Given the description of an element on the screen output the (x, y) to click on. 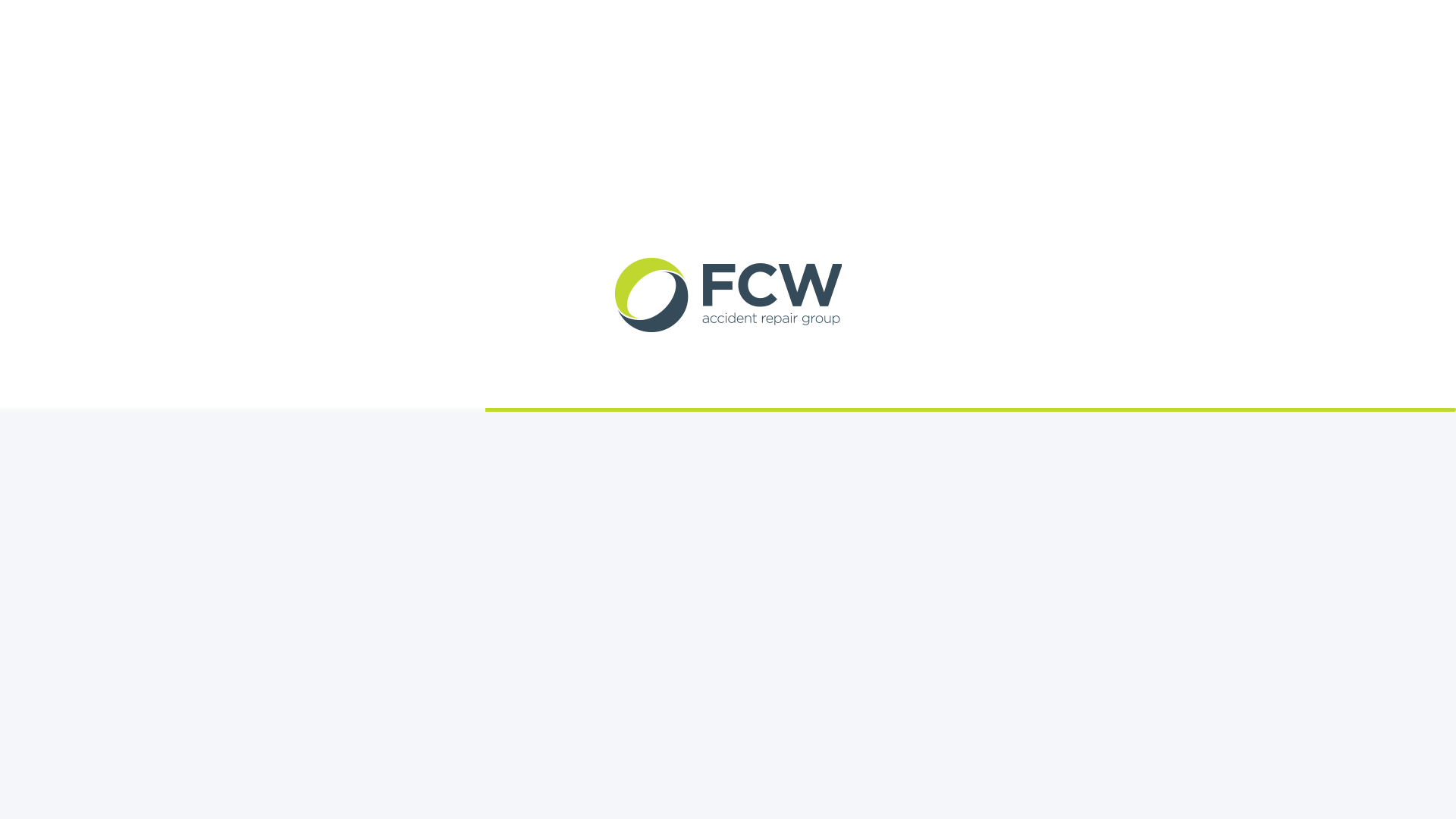
Home (306, 18)
Get an Estimate (374, 18)
Contact Us (446, 18)
